Given the description of an element on the screen output the (x, y) to click on. 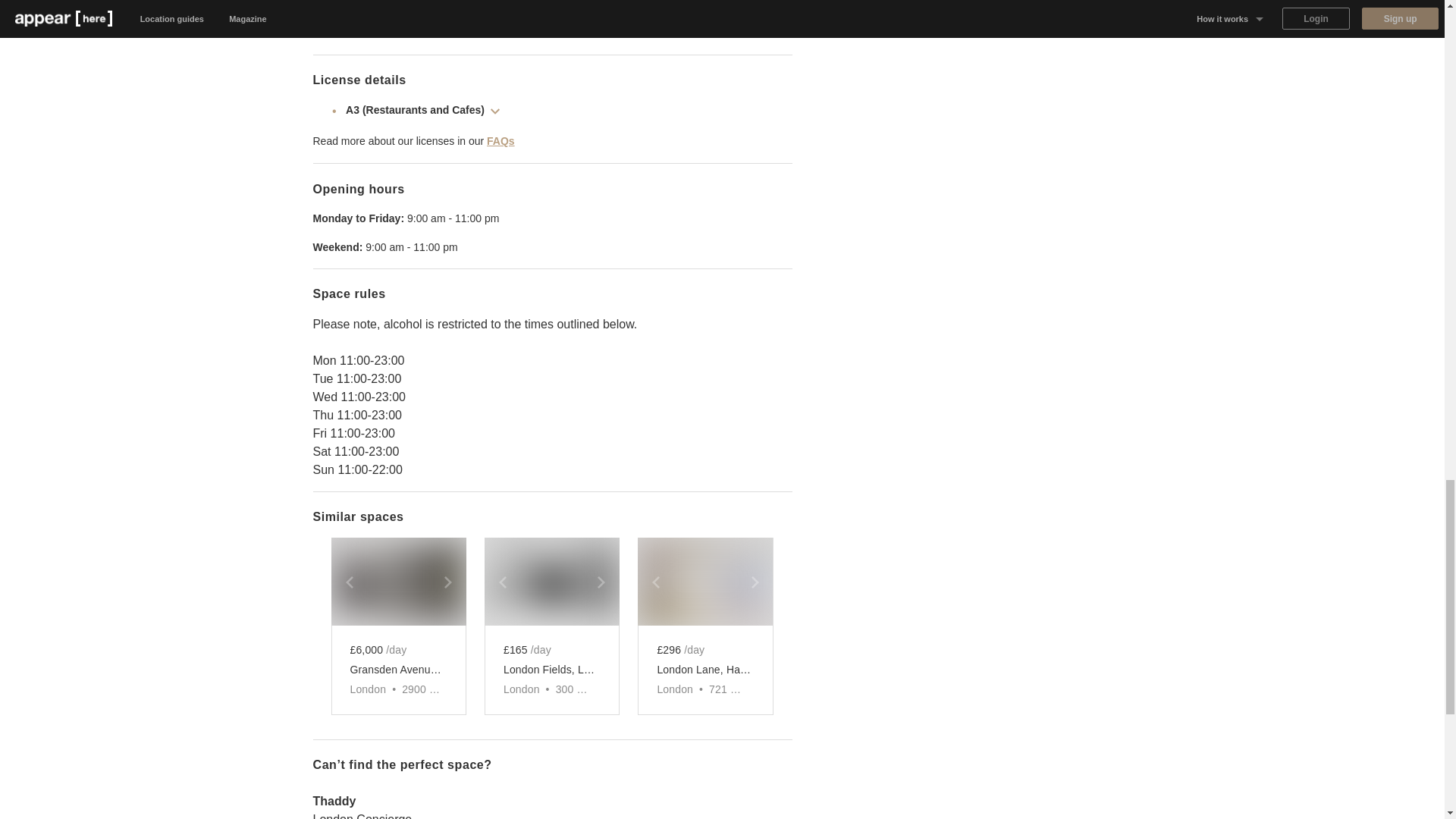
Chevron-up (494, 111)
